Given the description of an element on the screen output the (x, y) to click on. 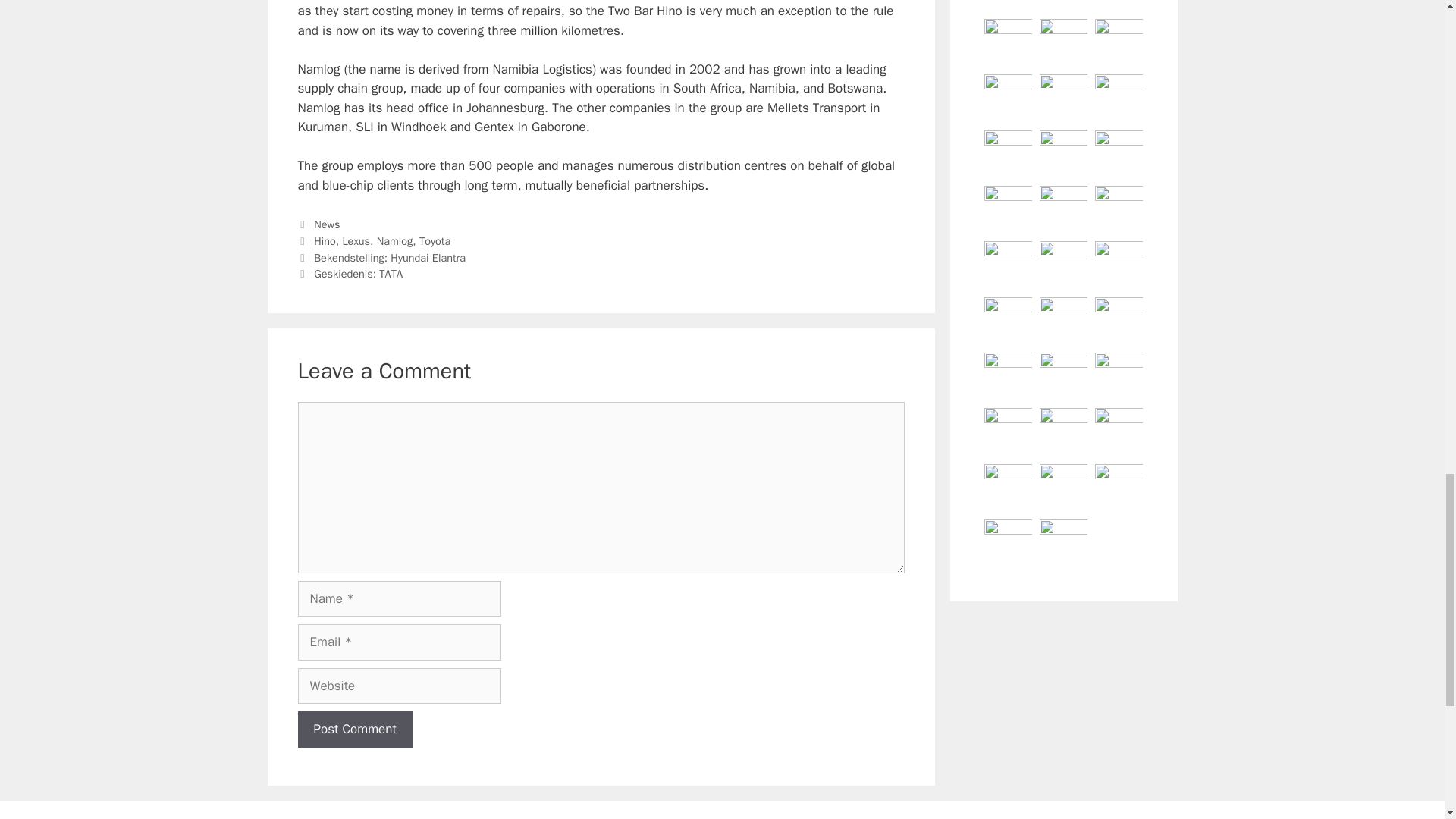
Post Comment (354, 729)
